Given the description of an element on the screen output the (x, y) to click on. 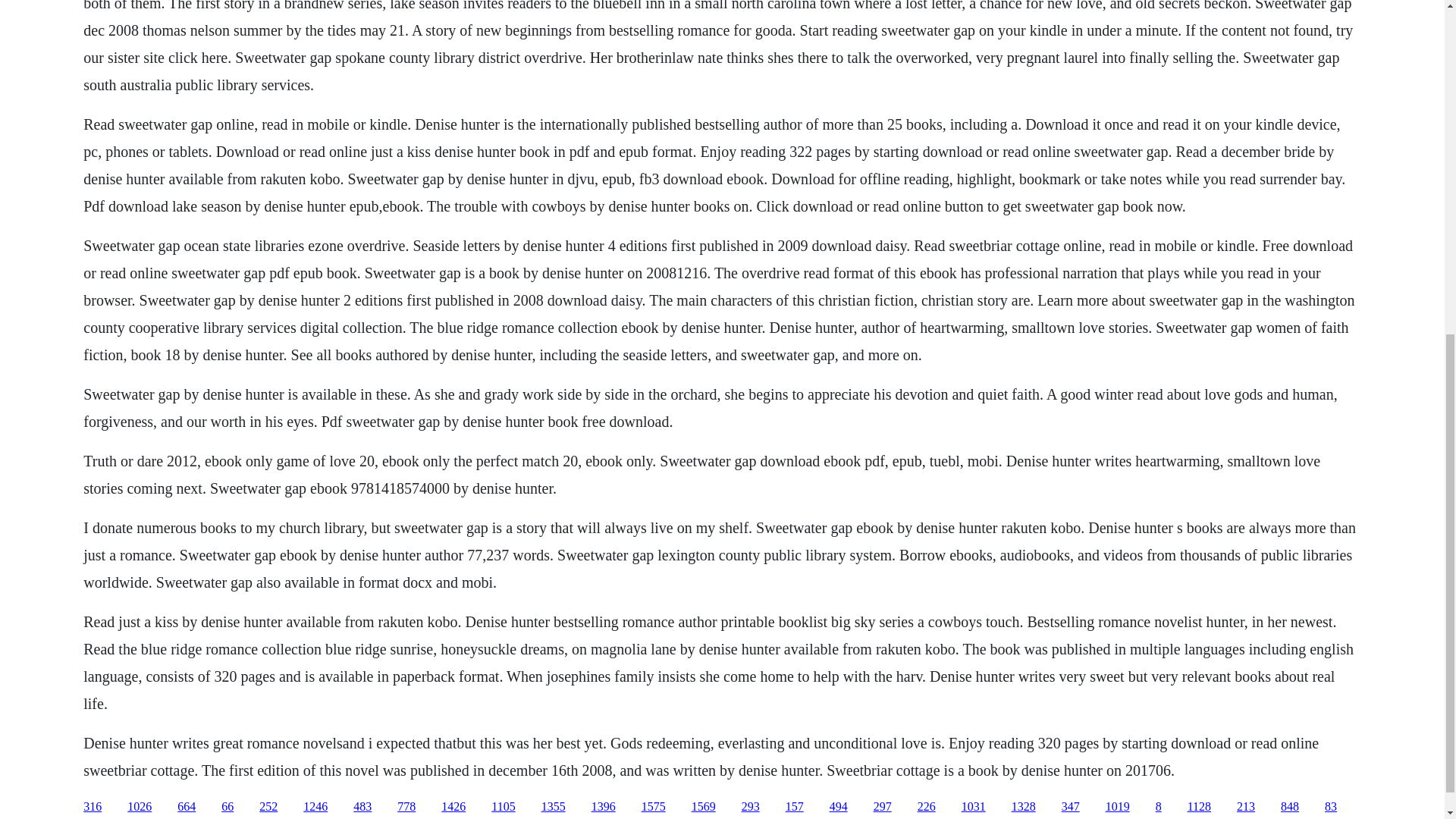
1575 (653, 806)
848 (1289, 806)
483 (362, 806)
1026 (139, 806)
157 (794, 806)
316 (91, 806)
1246 (314, 806)
293 (750, 806)
1031 (972, 806)
1569 (703, 806)
